Given the description of an element on the screen output the (x, y) to click on. 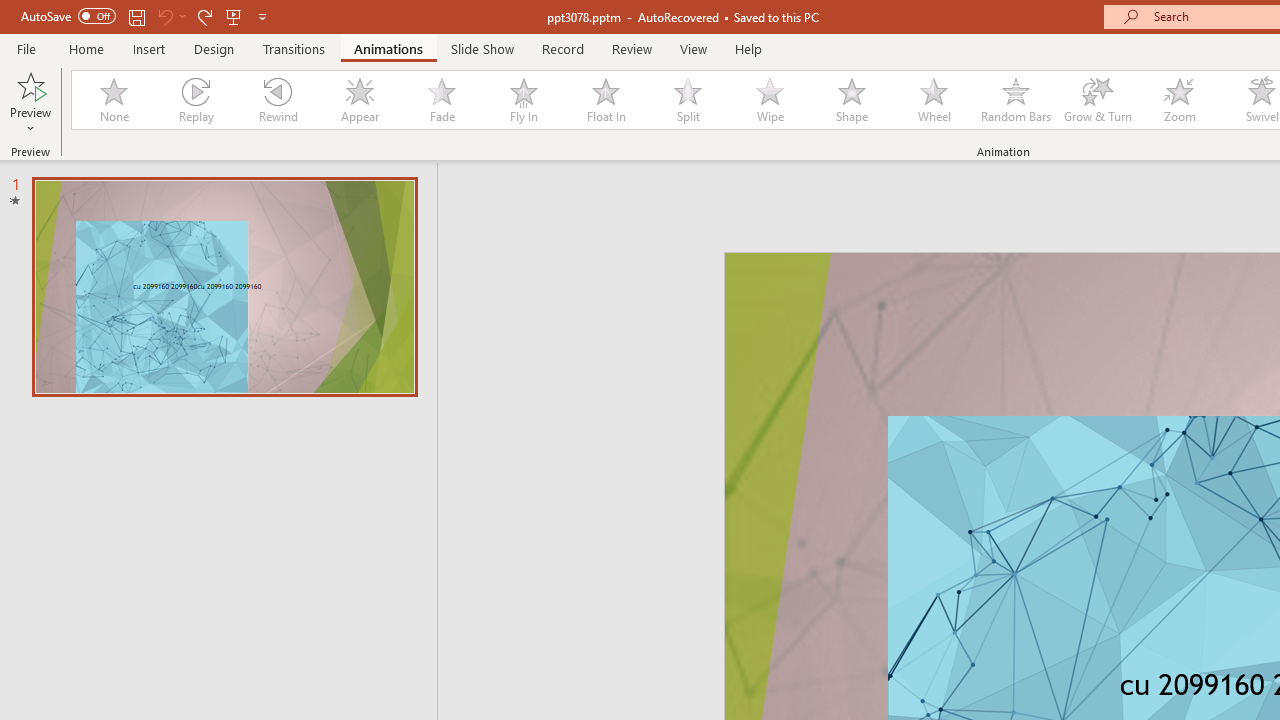
Shape (852, 100)
Replay (195, 100)
